Given the description of an element on the screen output the (x, y) to click on. 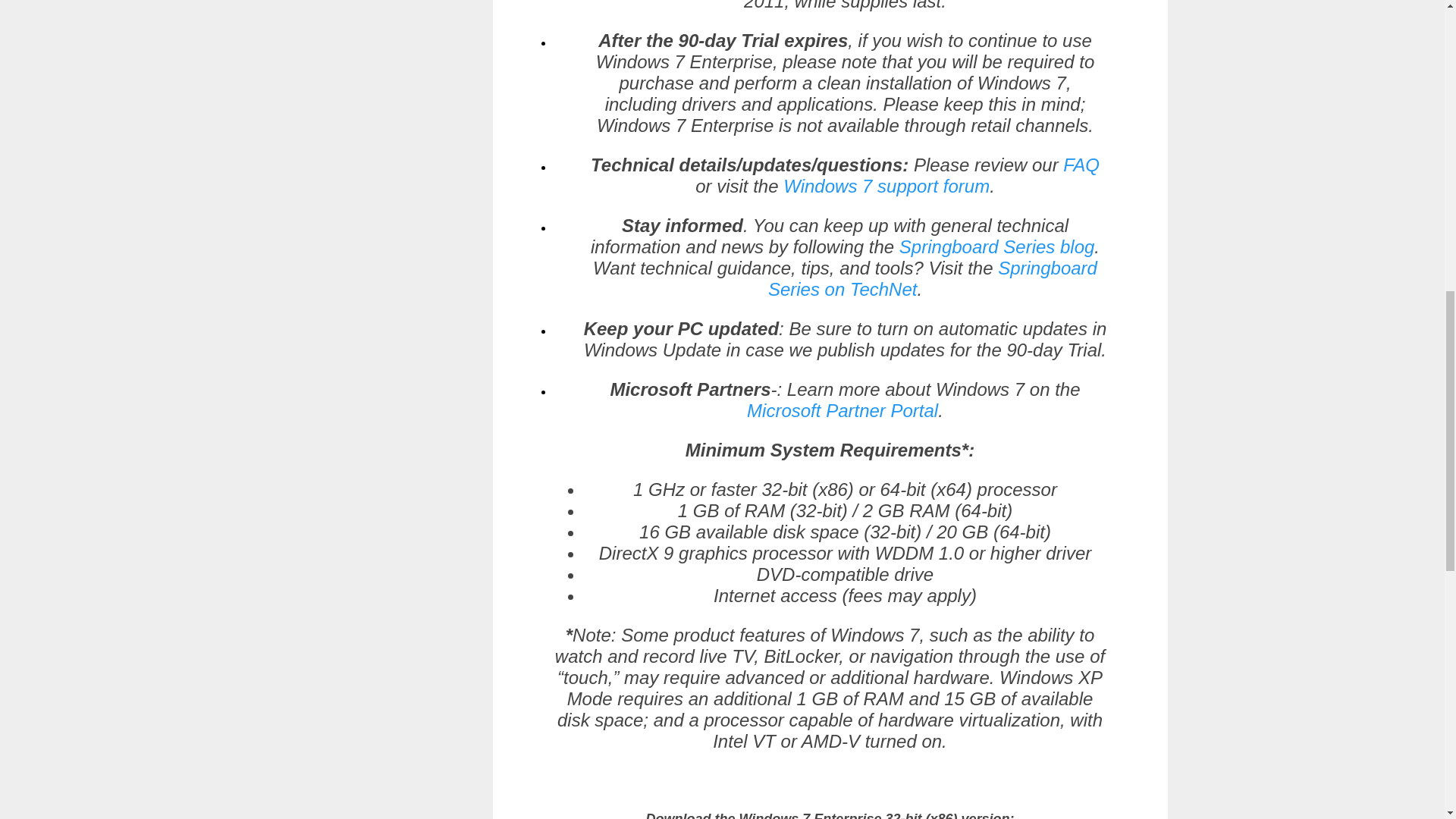
Springboard Series blog (996, 246)
Windows 7 support forum (886, 186)
Springboard Series on TechNet (932, 278)
Microsoft Partner Portal (841, 410)
FAQ (1080, 164)
